Given the description of an element on the screen output the (x, y) to click on. 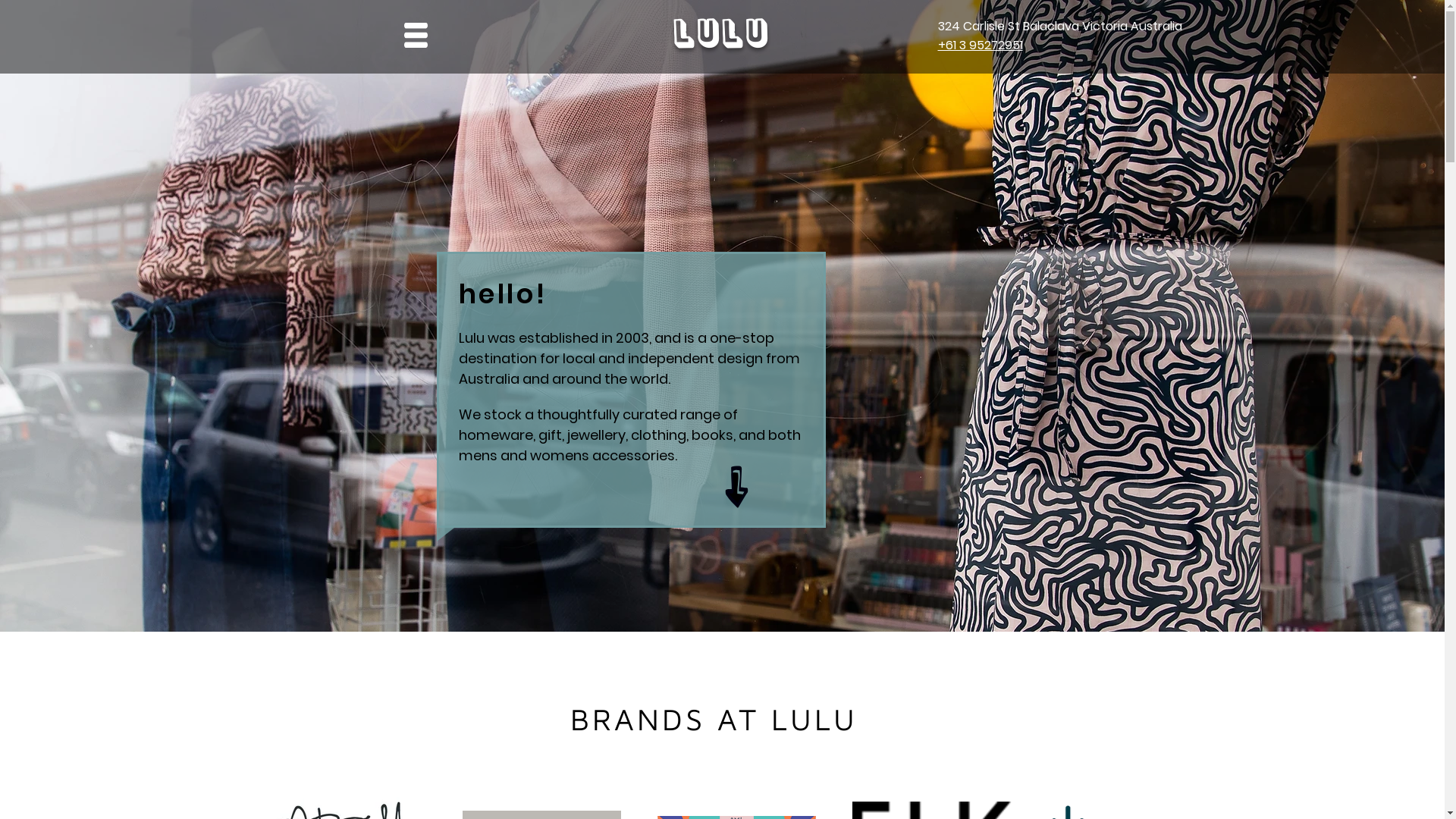
+61 3 95272951 Element type: text (979, 44)
